Given the description of an element on the screen output the (x, y) to click on. 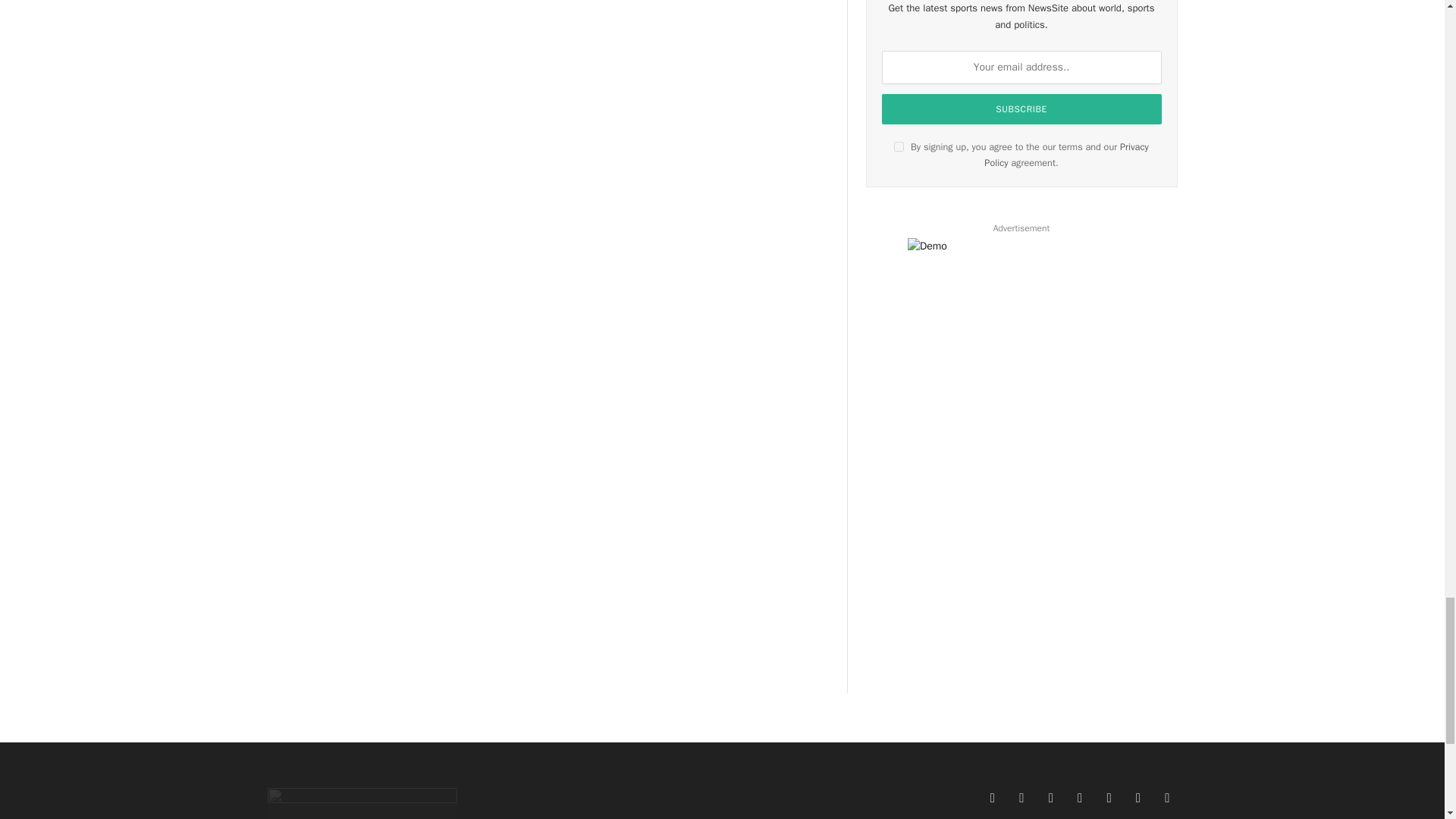
Subscribe (1021, 109)
on (898, 146)
